Given the description of an element on the screen output the (x, y) to click on. 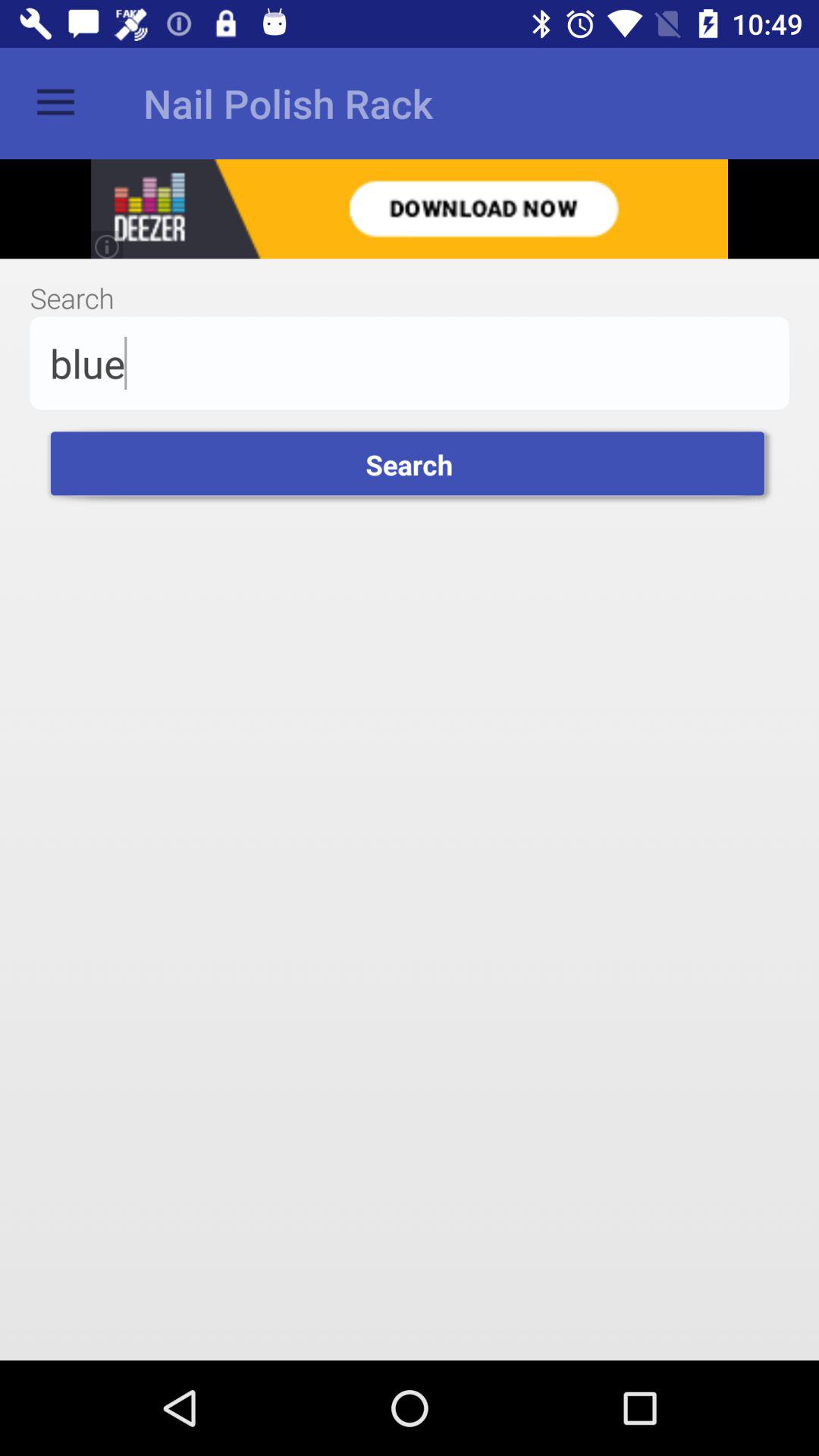
share the article (409, 208)
